Given the description of an element on the screen output the (x, y) to click on. 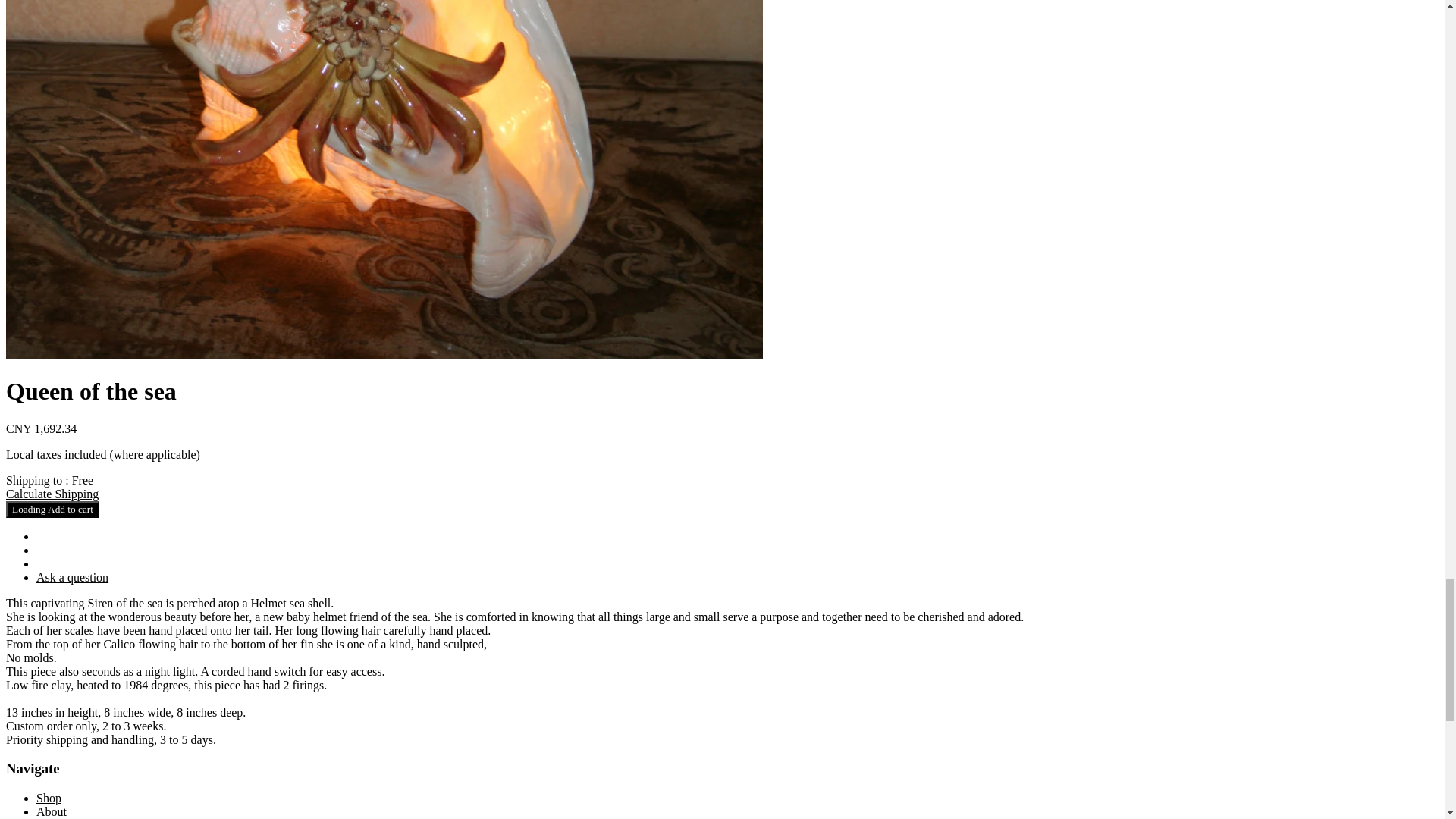
Calculate Shipping (52, 493)
Ask a question (71, 576)
About (51, 811)
Shop (48, 797)
Loading Add to cart (52, 509)
